Given the description of an element on the screen output the (x, y) to click on. 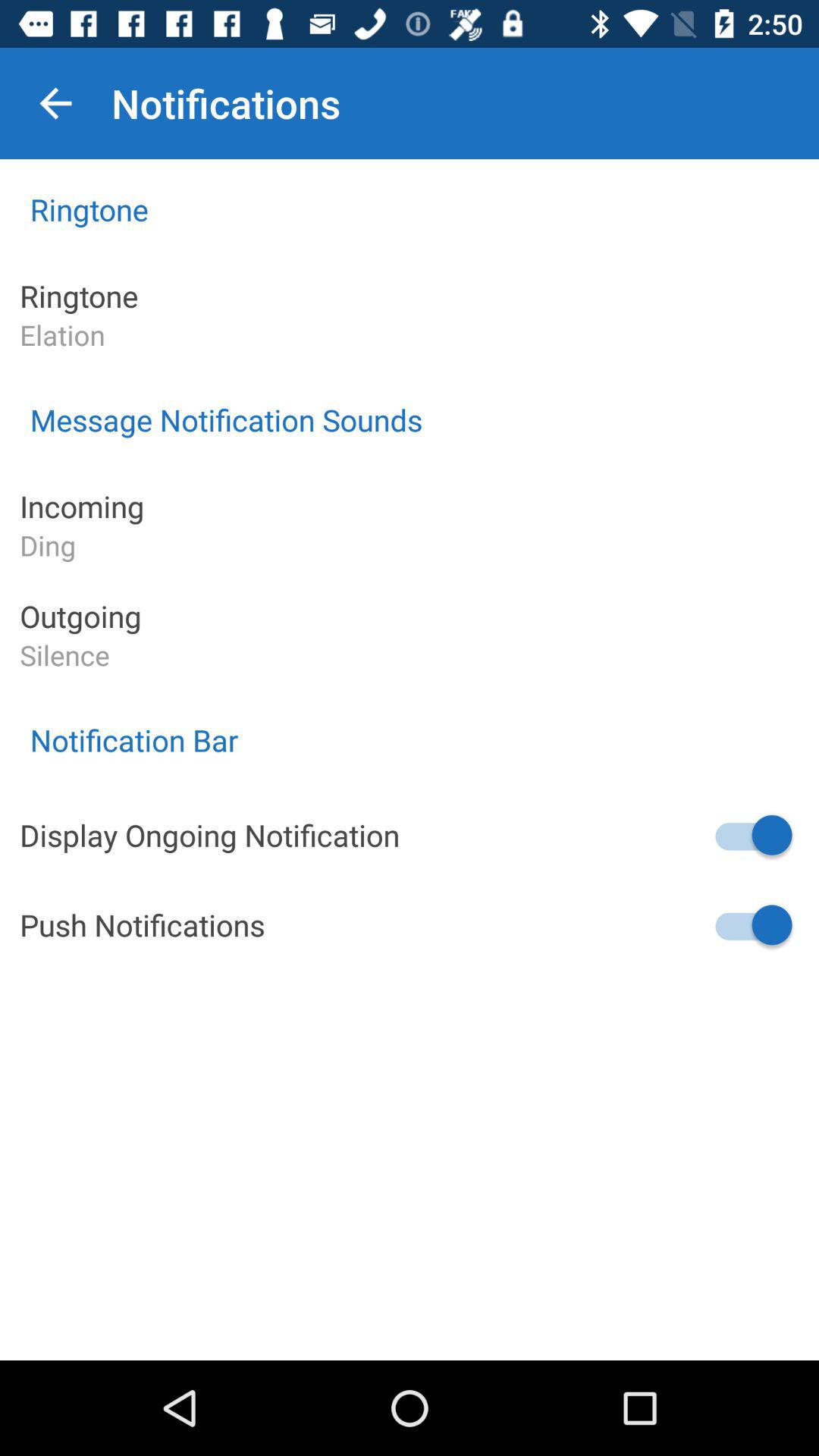
click icon to the left of notifications icon (55, 103)
